Given the description of an element on the screen output the (x, y) to click on. 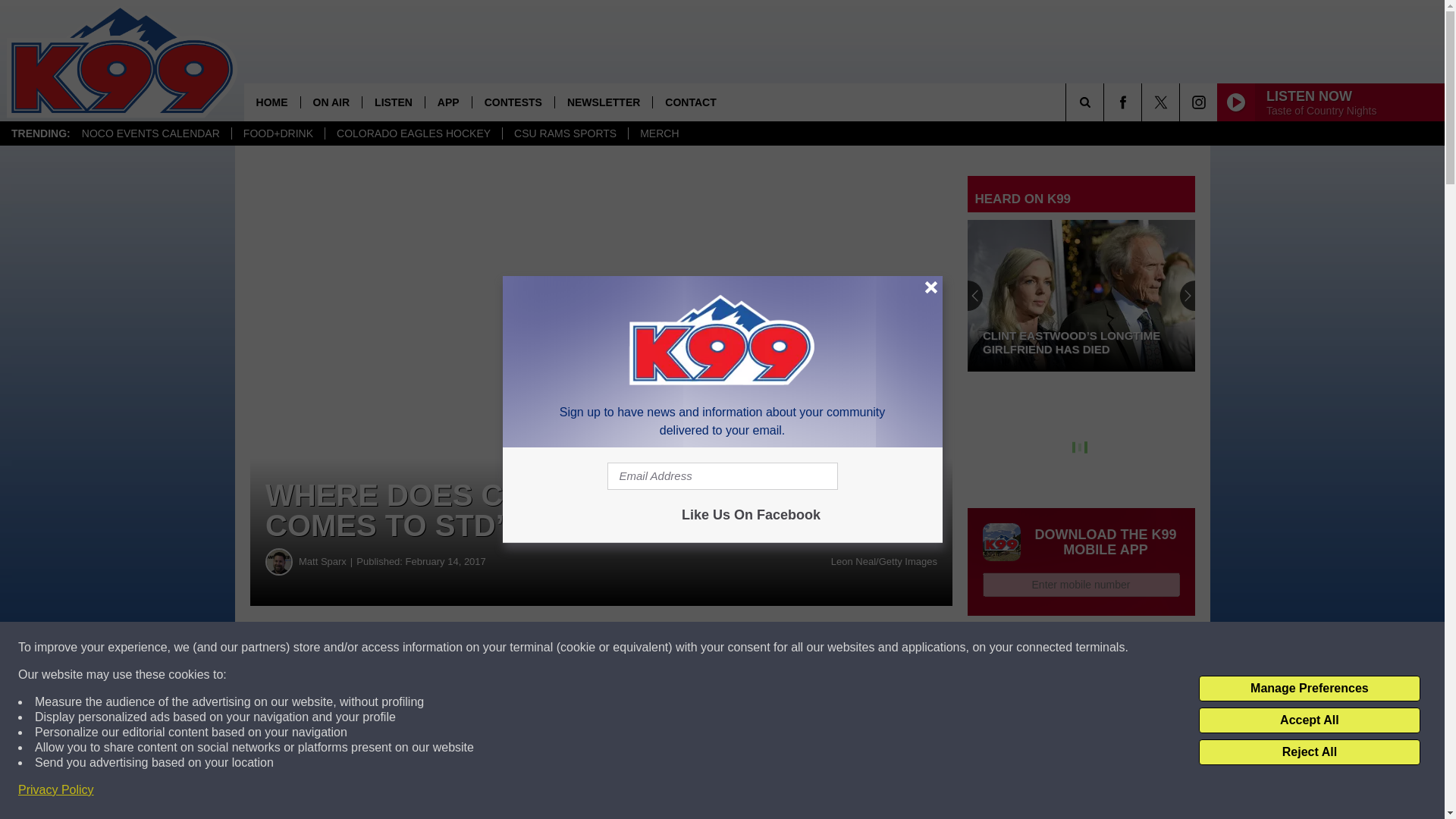
SEARCH (1106, 102)
Reject All (1309, 751)
Accept All (1309, 720)
Share on Twitter (741, 647)
MERCH (658, 133)
Email Address (722, 475)
CONTACT (690, 102)
Manage Preferences (1309, 688)
CONTESTS (512, 102)
Privacy Policy (55, 789)
SEARCH (1106, 102)
CSU RAMS SPORTS (564, 133)
NEWSLETTER (603, 102)
NOCO EVENTS CALENDAR (150, 133)
ON AIR (330, 102)
